Given the description of an element on the screen output the (x, y) to click on. 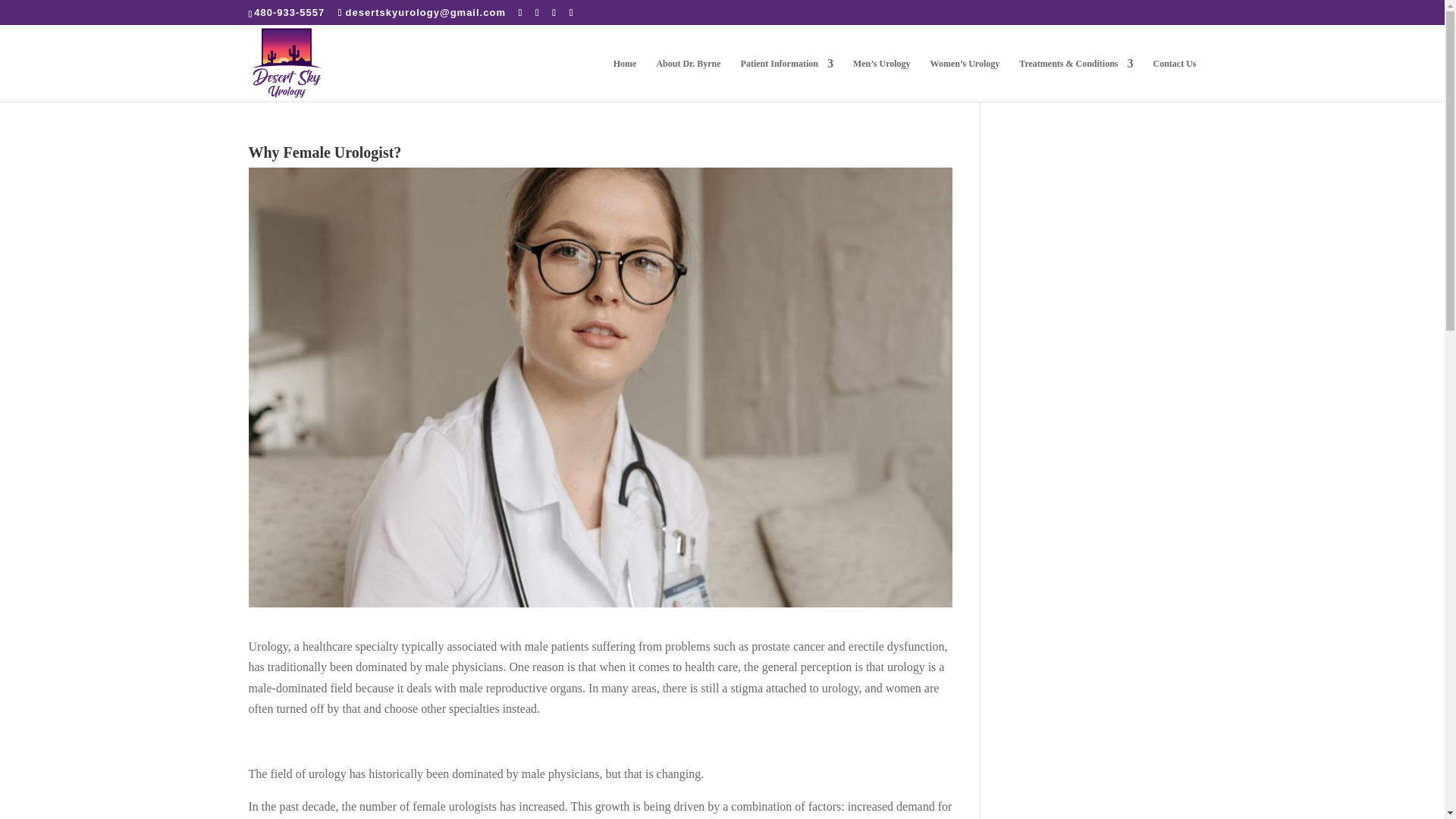
Patient Information (786, 78)
About Dr. Byrne (688, 78)
